Given the description of an element on the screen output the (x, y) to click on. 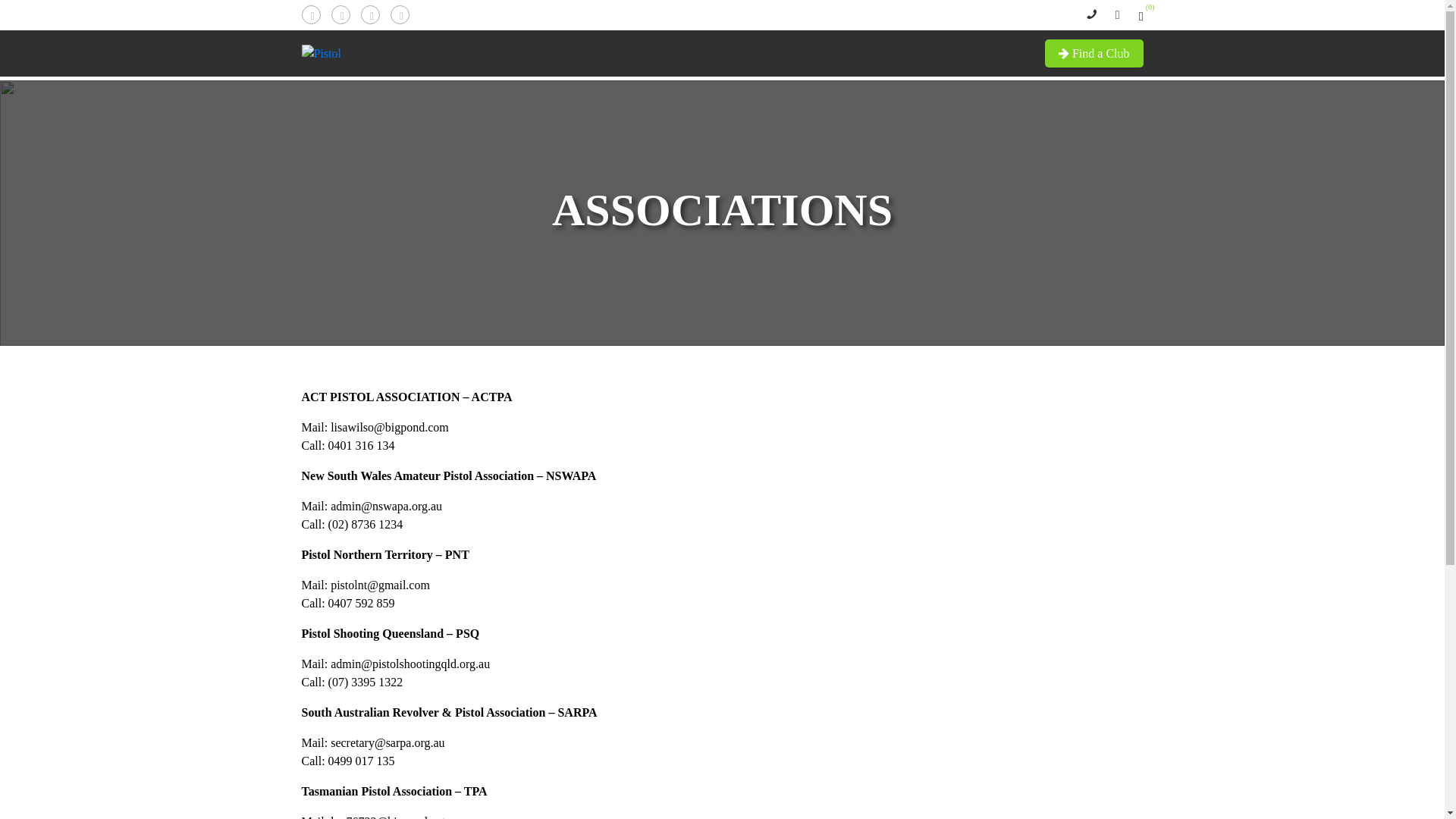
admin@nswapa.org.au Element type: text (386, 505)
0499 017 135 Element type: text (361, 760)
admin@pistolshootingqld.org.au Element type: text (409, 663)
twitter Element type: text (339, 13)
lisawilso@bigpond.com Element type: text (389, 426)
facebook Element type: text (310, 13)
instagram Element type: text (369, 13)
youtube Element type: text (398, 13)
(0) Element type: text (1141, 15)
(02) 8736 1234 Element type: text (365, 523)
pistolnt@gmail.com Element type: text (379, 584)
(07) 3395 1322 Element type: text (365, 681)
0401 316 134 Element type: text (361, 445)
0407 592 859 Element type: text (361, 602)
secretary@sarpa.org.au Element type: text (387, 742)
Find a Club Element type: text (1093, 53)
